Given the description of an element on the screen output the (x, y) to click on. 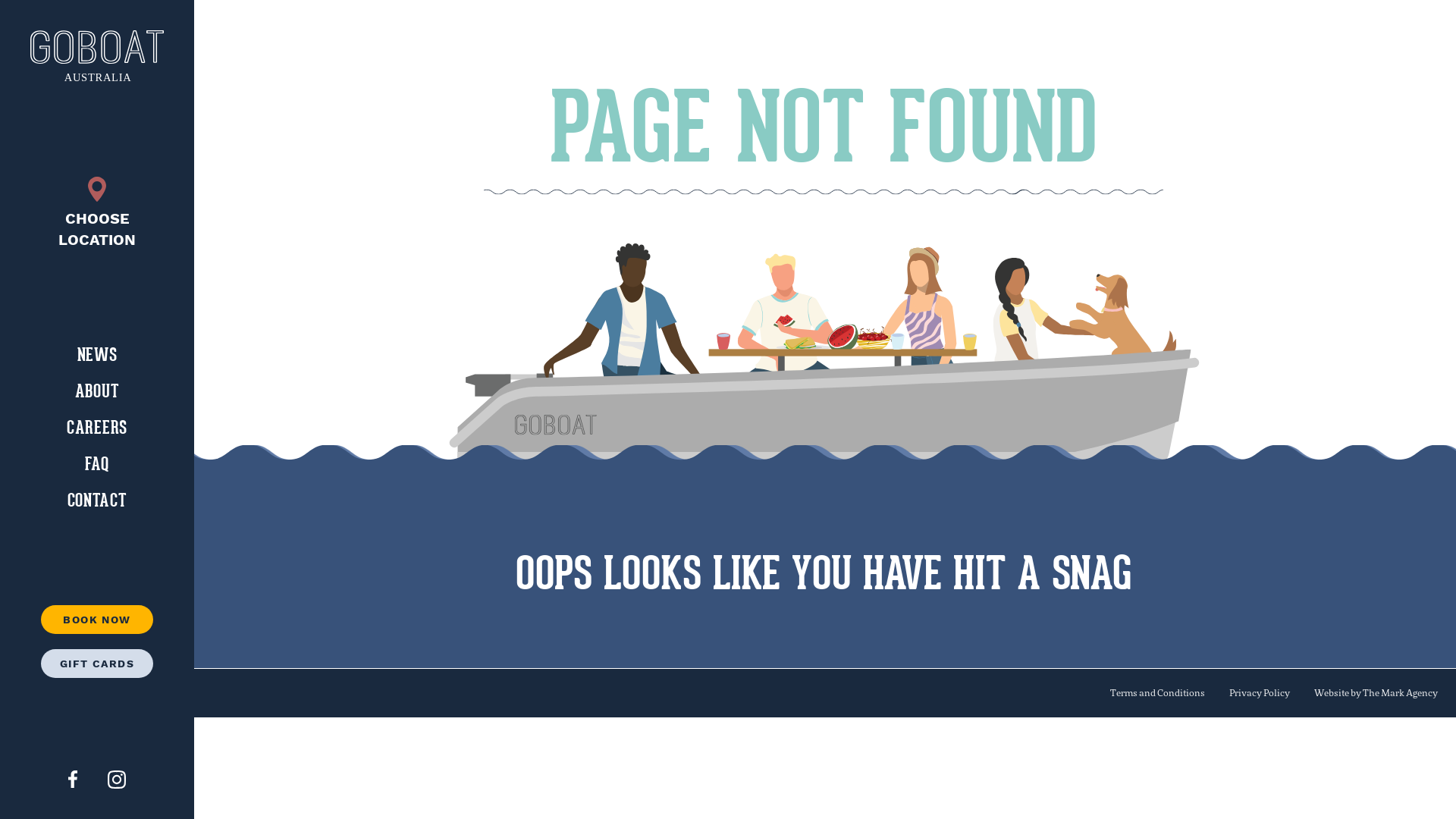
Terms and Conditions Element type: text (1157, 693)
CONTACT Element type: text (96, 500)
NEWS Element type: text (96, 354)
CHOOSE
LOCATION Element type: text (96, 213)
CAREERS Element type: text (96, 427)
ABOUT Element type: text (96, 391)
BOOK NOW Element type: text (96, 619)
Website by The Mark Agency Element type: text (1375, 693)
FAQ Element type: text (96, 463)
GIFT CARDS Element type: text (96, 663)
Privacy Policy Element type: text (1259, 693)
